Given the description of an element on the screen output the (x, y) to click on. 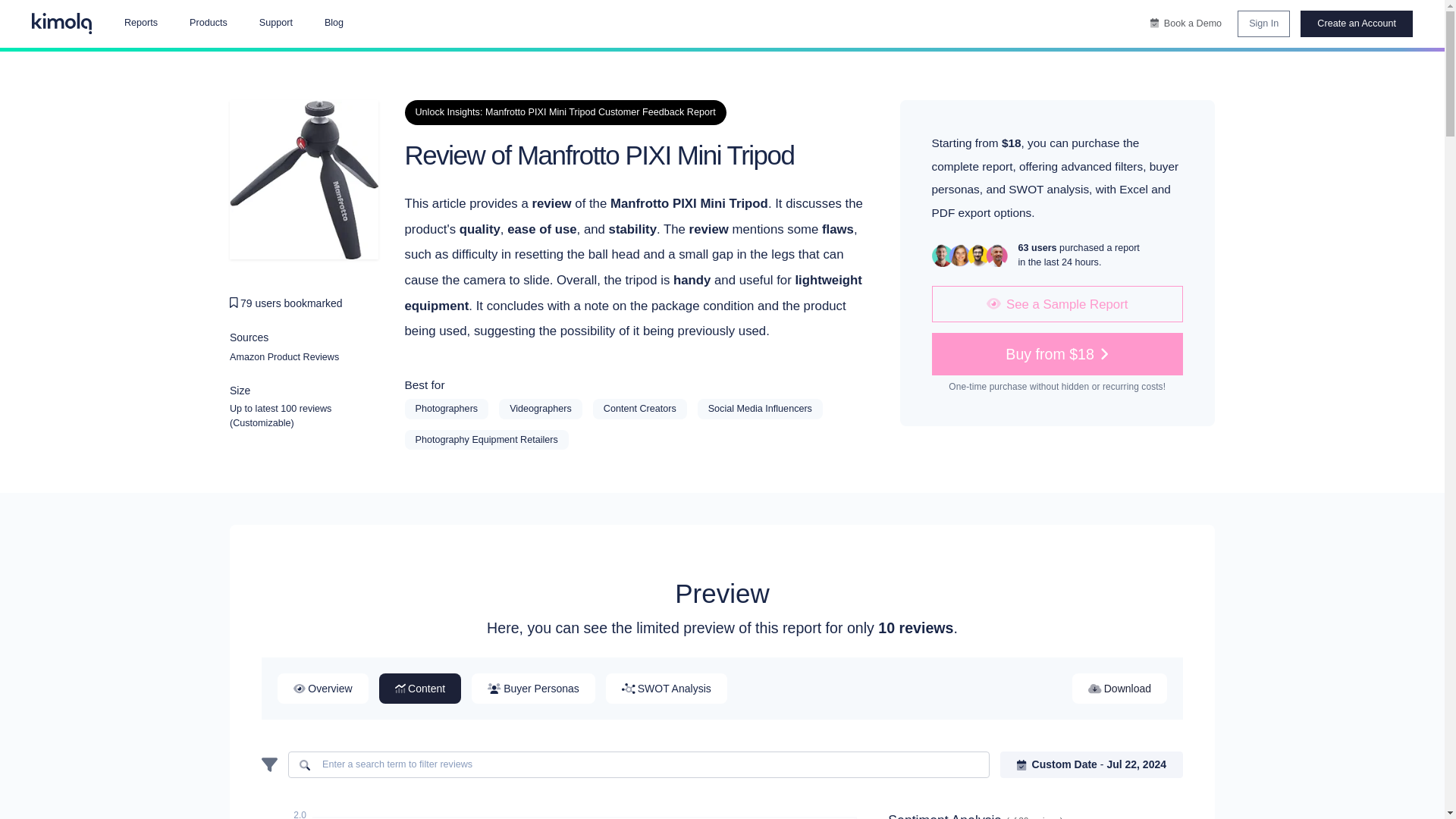
Reports (140, 23)
Products (208, 23)
Kimola (62, 23)
Reports (140, 23)
